Given the description of an element on the screen output the (x, y) to click on. 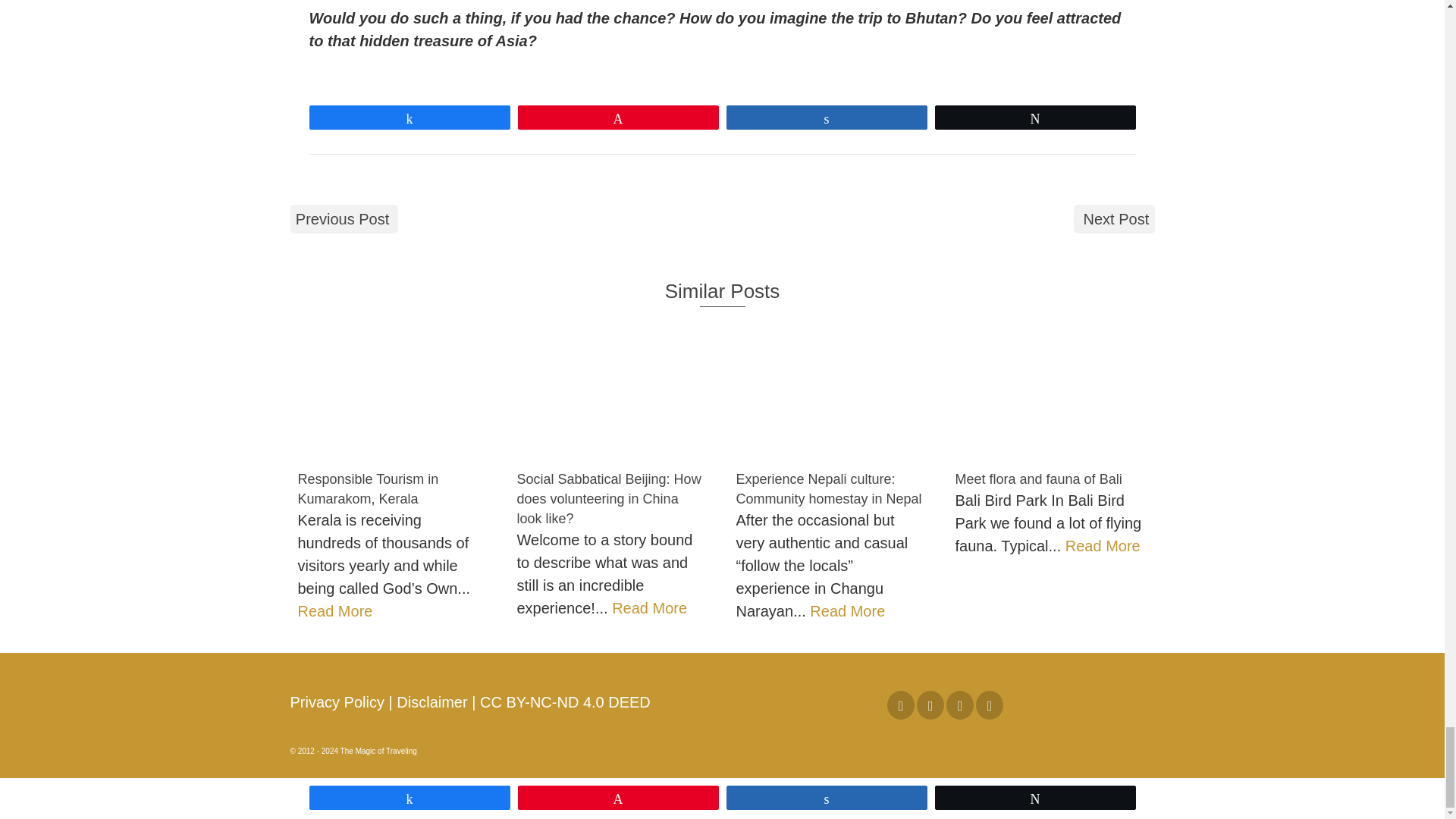
Responsible Tourism in Kumarakom, Kerala (391, 393)
Meet flora and fauna of Bali (1049, 393)
Experience Nepali culture: Community homestay in Nepal (829, 393)
